Given the description of an element on the screen output the (x, y) to click on. 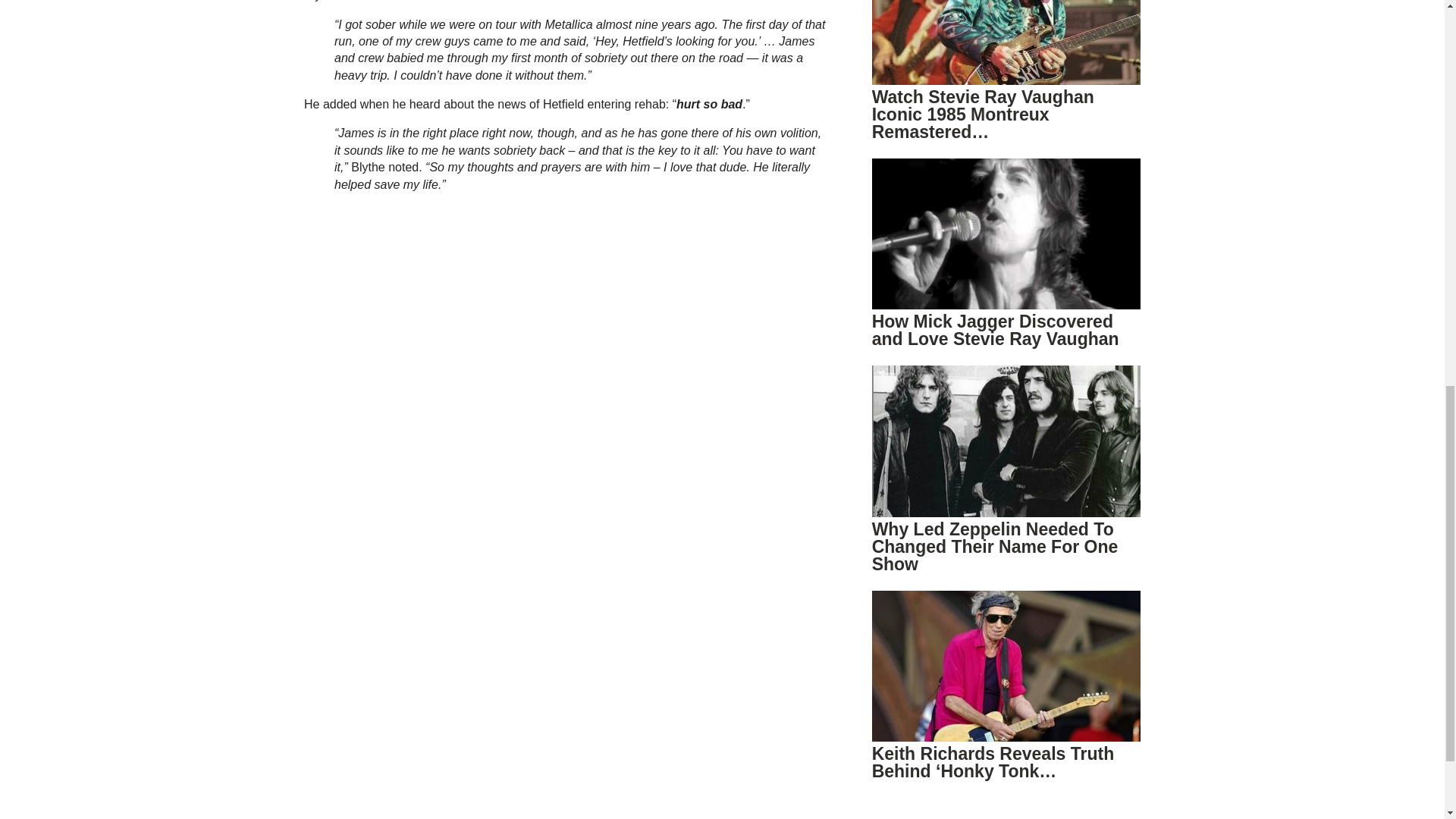
How Mick Jagger Discovered and Love Stevie Ray Vaughan (995, 330)
Blabbermouth (424, 0)
Why Led Zeppelin Needed To Changed Their Name For One Show (995, 546)
